Given the description of an element on the screen output the (x, y) to click on. 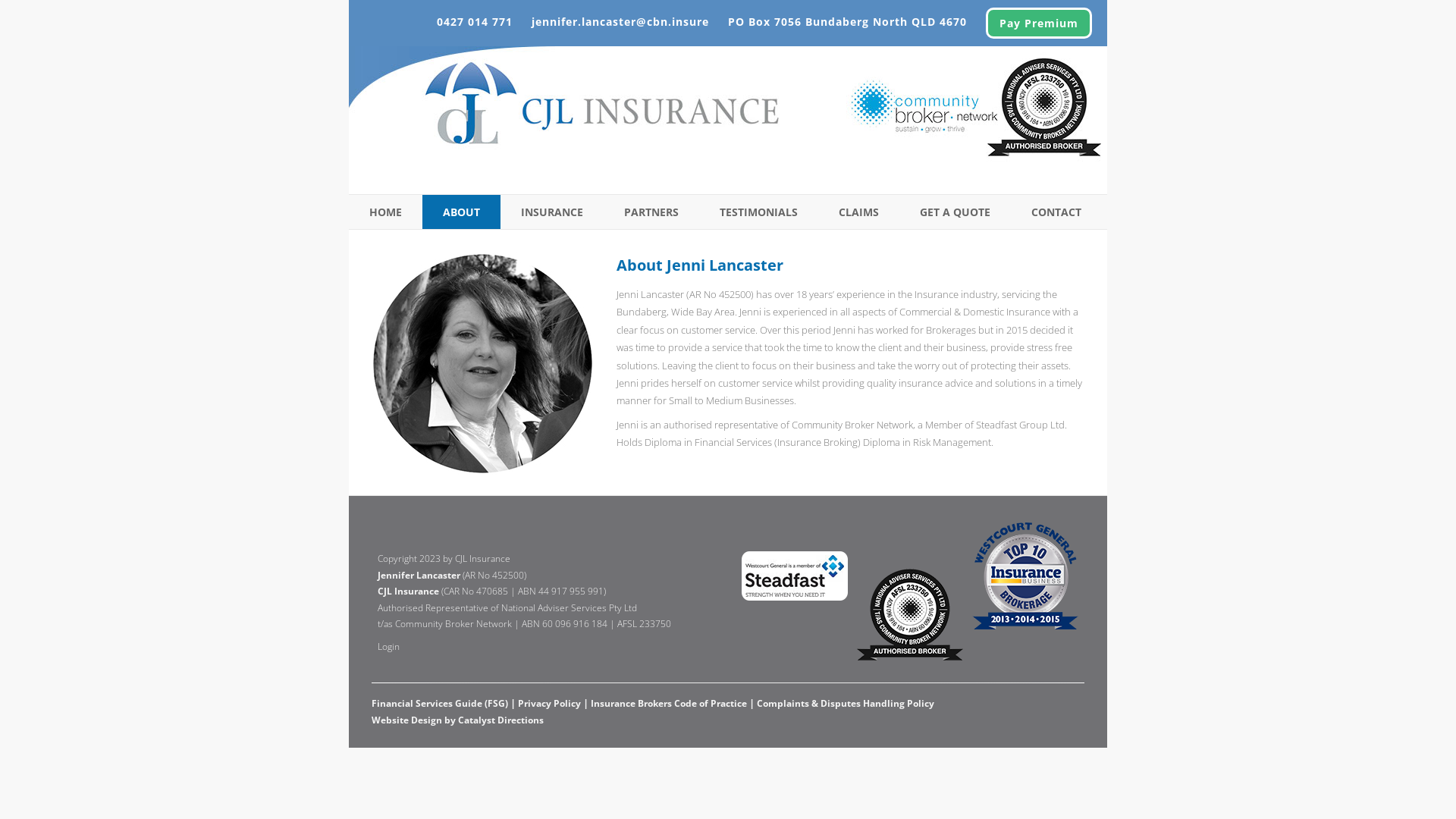
Insurance Brokers Code of Practice Element type: text (668, 702)
CONTACT Element type: text (1055, 211)
PARTNERS Element type: text (651, 211)
INSURANCE Element type: text (551, 211)
HOME Element type: text (385, 211)
Privacy Policy Element type: text (548, 702)
GET A QUOTE Element type: text (954, 211)
Website Design by Catalyst Directions Element type: text (727, 720)
TESTIMONIALS Element type: text (758, 211)
Login Element type: text (388, 646)
Financial Services Guide (FSG) Element type: text (439, 702)
0427 014 771 Element type: text (474, 21)
ABOUT Element type: text (461, 211)
jennifer.lancaster@cbn.insure Element type: text (620, 21)
CLAIMS Element type: text (858, 211)
Pay Premium Element type: text (1038, 22)
Complaints & Disputes Handling Policy Element type: text (845, 702)
